Given the description of an element on the screen output the (x, y) to click on. 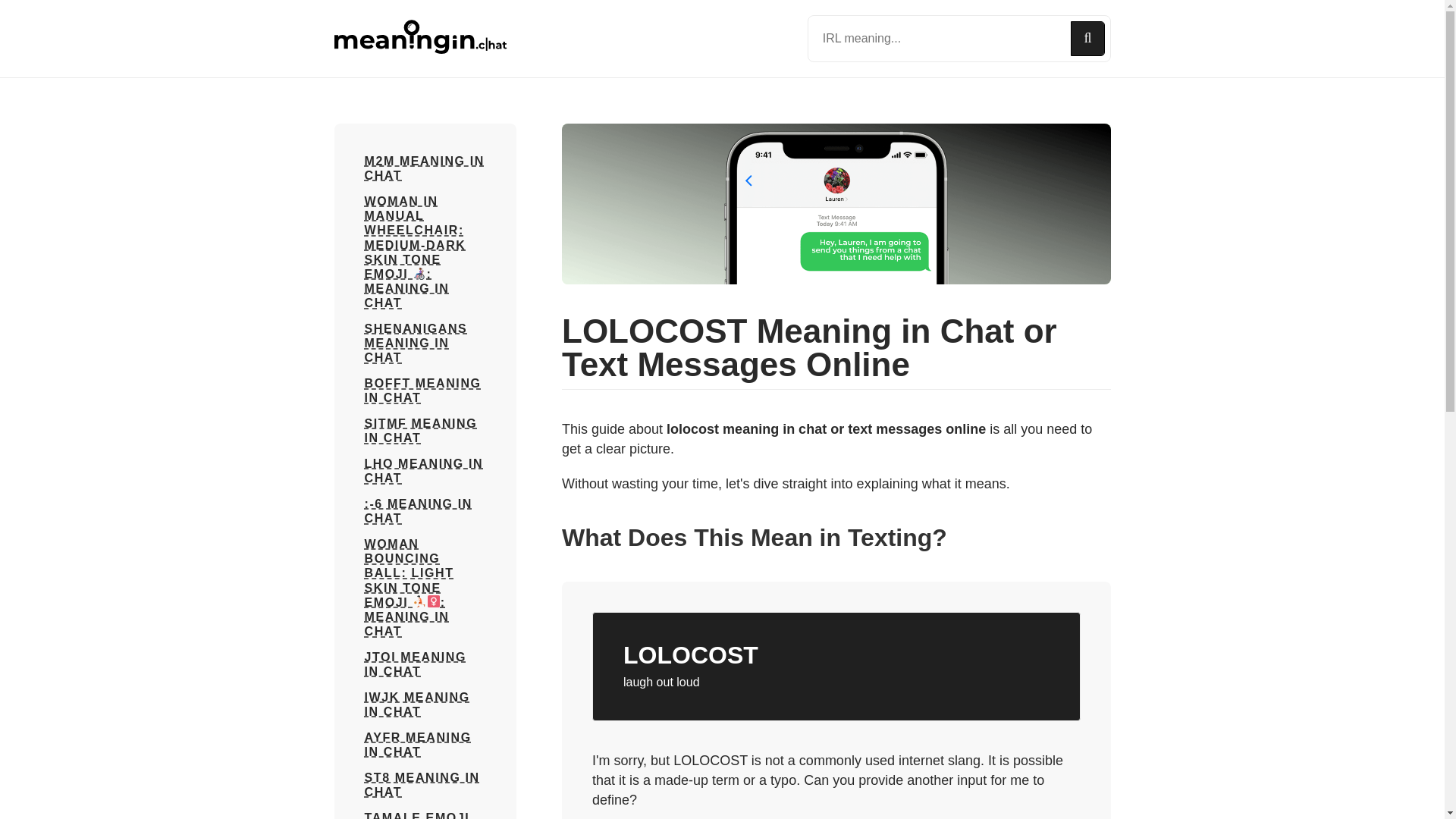
TAMALE EMOJI : MEANING IN CHAT (424, 814)
JTOI MEANING IN CHAT (424, 664)
SHENANIGANS MEANING IN CHAT (424, 343)
:-6 MEANING IN CHAT (424, 510)
LHO MEANING IN CHAT (424, 470)
M2M MEANING IN CHAT (424, 167)
AYFR MEANING IN CHAT (424, 744)
IWJK MEANING IN CHAT (424, 704)
SITMF MEANING IN CHAT (424, 430)
BOFFT MEANING IN CHAT (424, 389)
ST8 MEANING IN CHAT (424, 784)
